Given the description of an element on the screen output the (x, y) to click on. 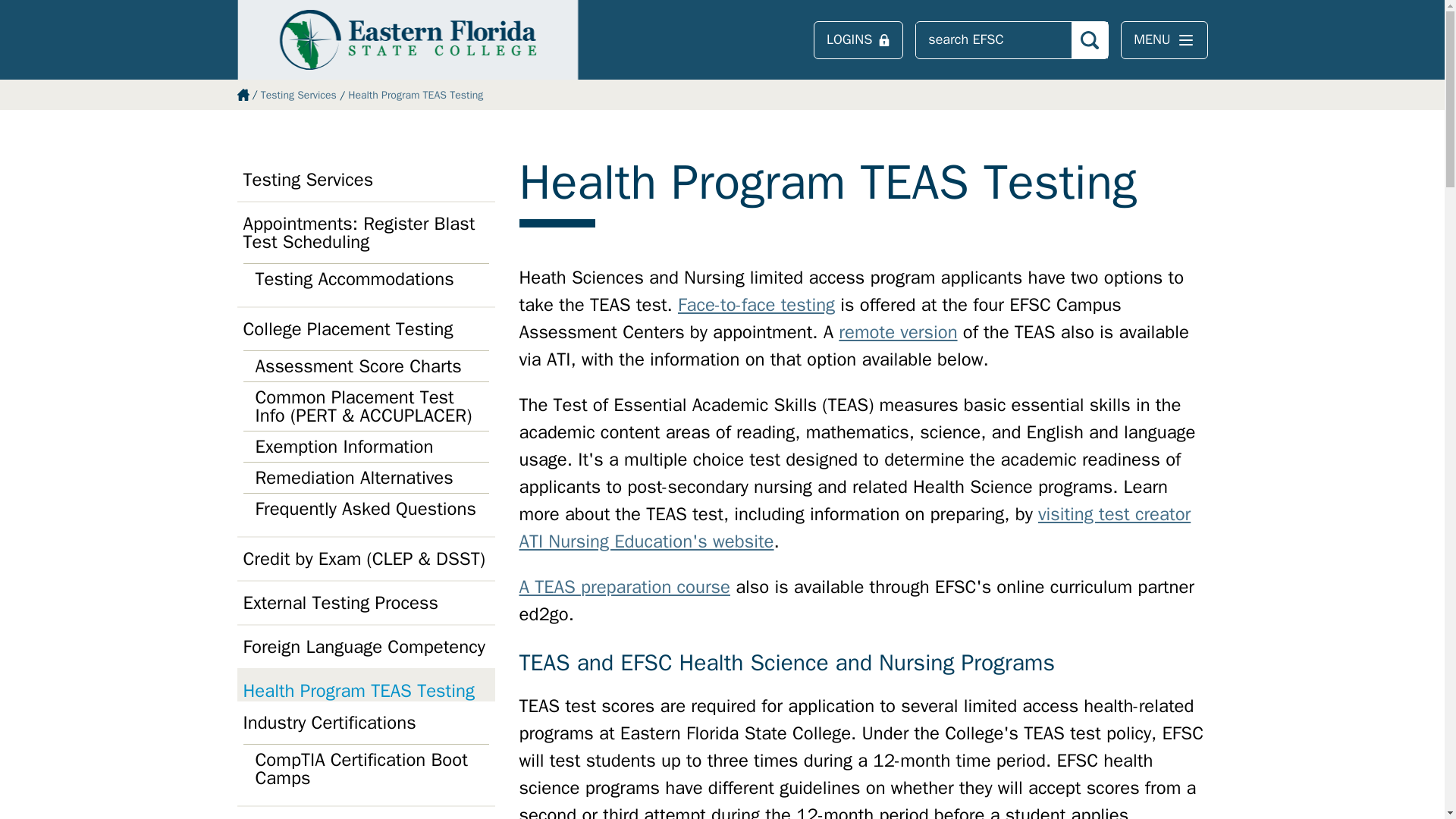
Eastern Florida State College Logo (406, 39)
Search (1089, 40)
LOGINS (857, 39)
MENU (1164, 39)
Home (406, 39)
Search (1089, 40)
